Given the description of an element on the screen output the (x, y) to click on. 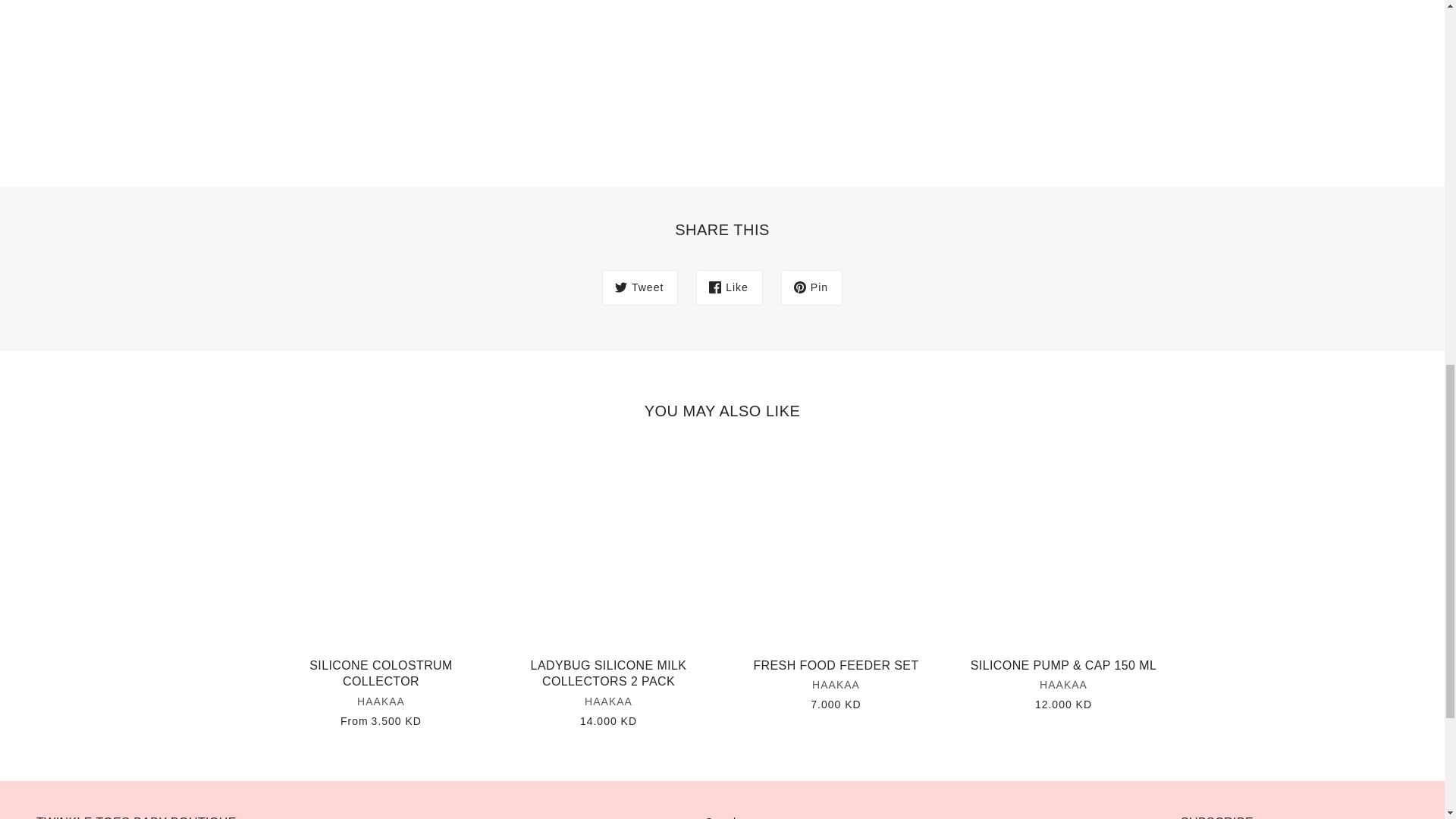
Search (721, 817)
